Given the description of an element on the screen output the (x, y) to click on. 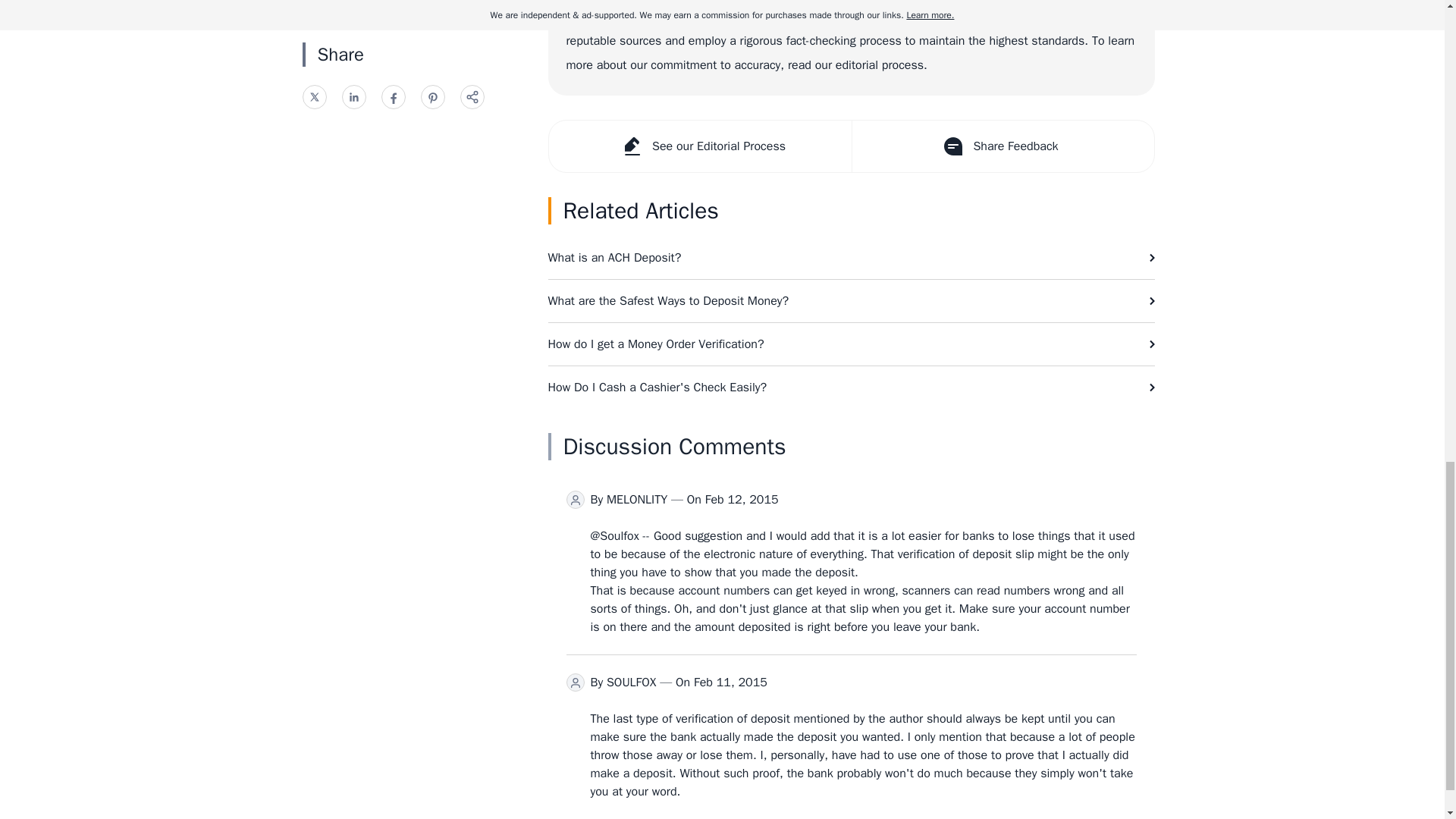
How Do I Cash a Cashier's Check Easily? (850, 387)
What is an ACH Deposit? (850, 257)
See our Editorial Process (699, 145)
How do I get a Money Order Verification? (850, 343)
What are the Safest Ways to Deposit Money? (850, 301)
Share Feedback (1001, 145)
